Given the description of an element on the screen output the (x, y) to click on. 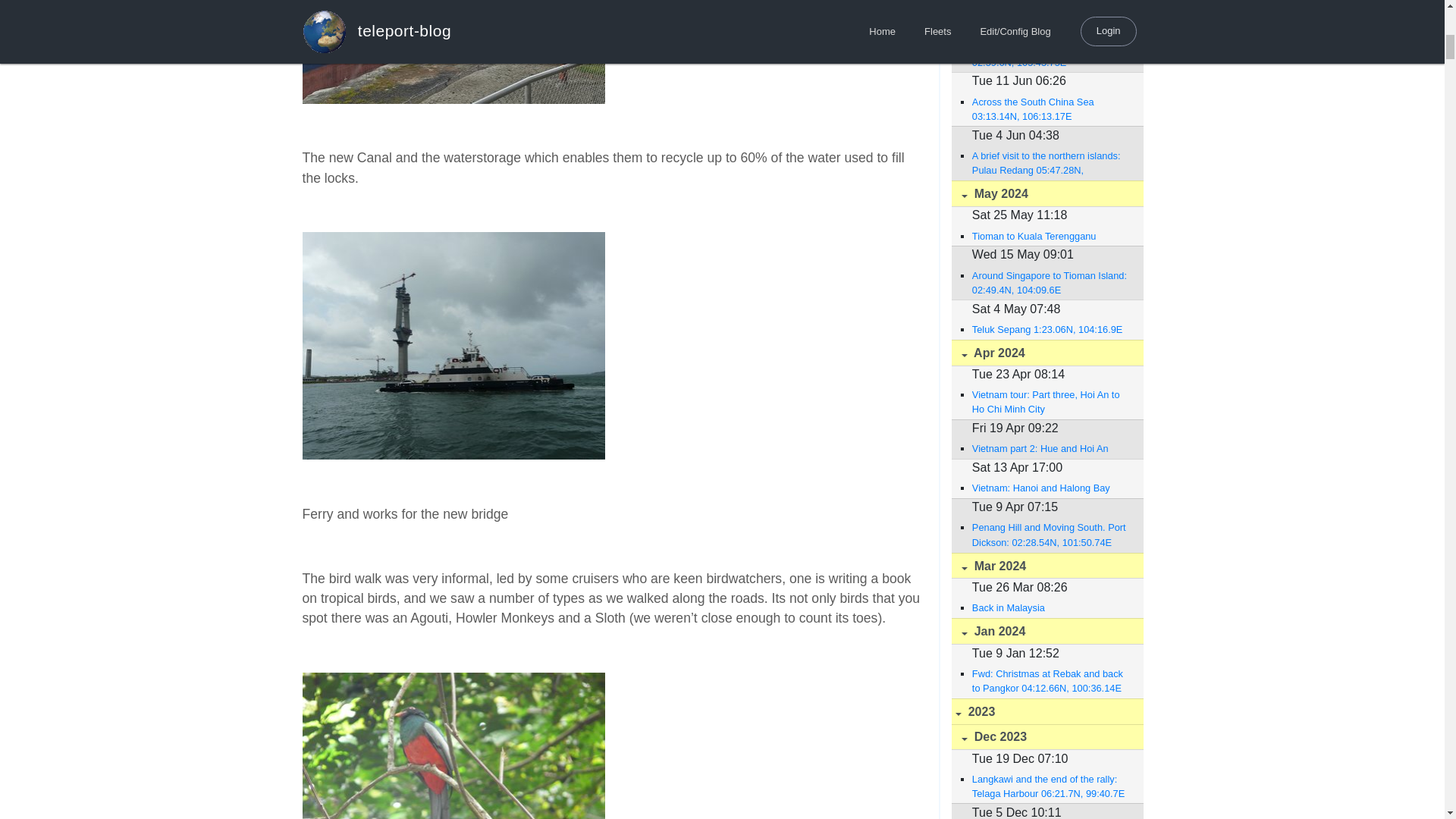
Tioman to Kuala Terengganu (1050, 236)
Around Singapore to Tioman Island: 02:49.4N, 104:09.6E (1050, 282)
Anambas to Miri via Natuna 04:23.1N 113:58.3E (1050, 7)
Apr 2024 (1046, 352)
Exploring the Anambas Isalnds: 02:59.6N, 105:43.75E (1050, 54)
Teluk Sepang 1:23.06N, 104:16.9E (1050, 329)
Vietnam tour: Part three, Hoi An to Ho Chi Minh City (1050, 401)
Across the South China Sea 03:13.14N, 106:13.17E (1050, 109)
May 2024 (1046, 193)
